Given the description of an element on the screen output the (x, y) to click on. 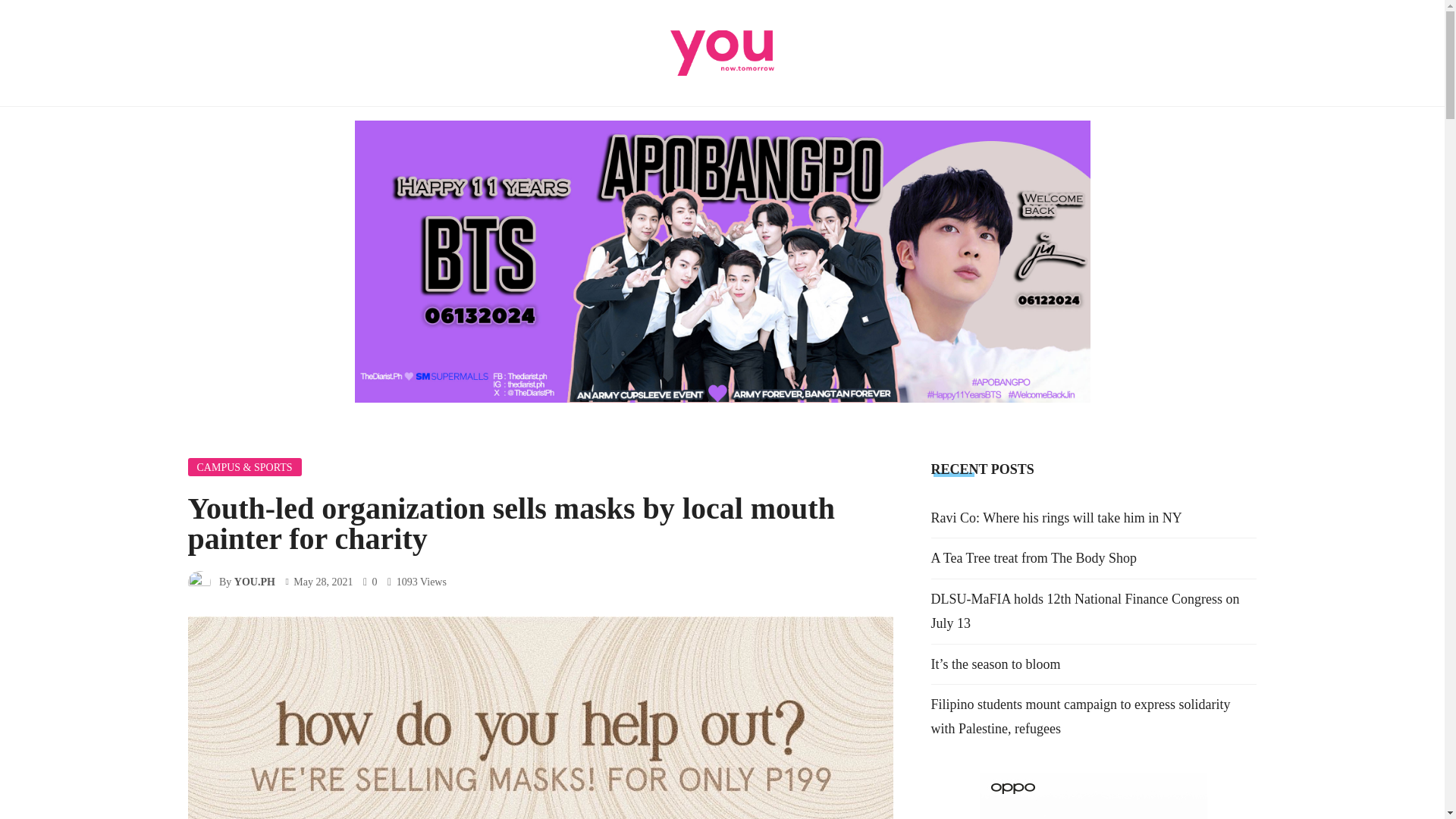
DLSU-MaFIA holds 12th National Finance Congress on July 13 (1085, 610)
YOU.PH (254, 582)
A Tea Tree treat from The Body Shop (1034, 557)
Ravi Co: Where his rings will take him in NY (1056, 517)
